Given the description of an element on the screen output the (x, y) to click on. 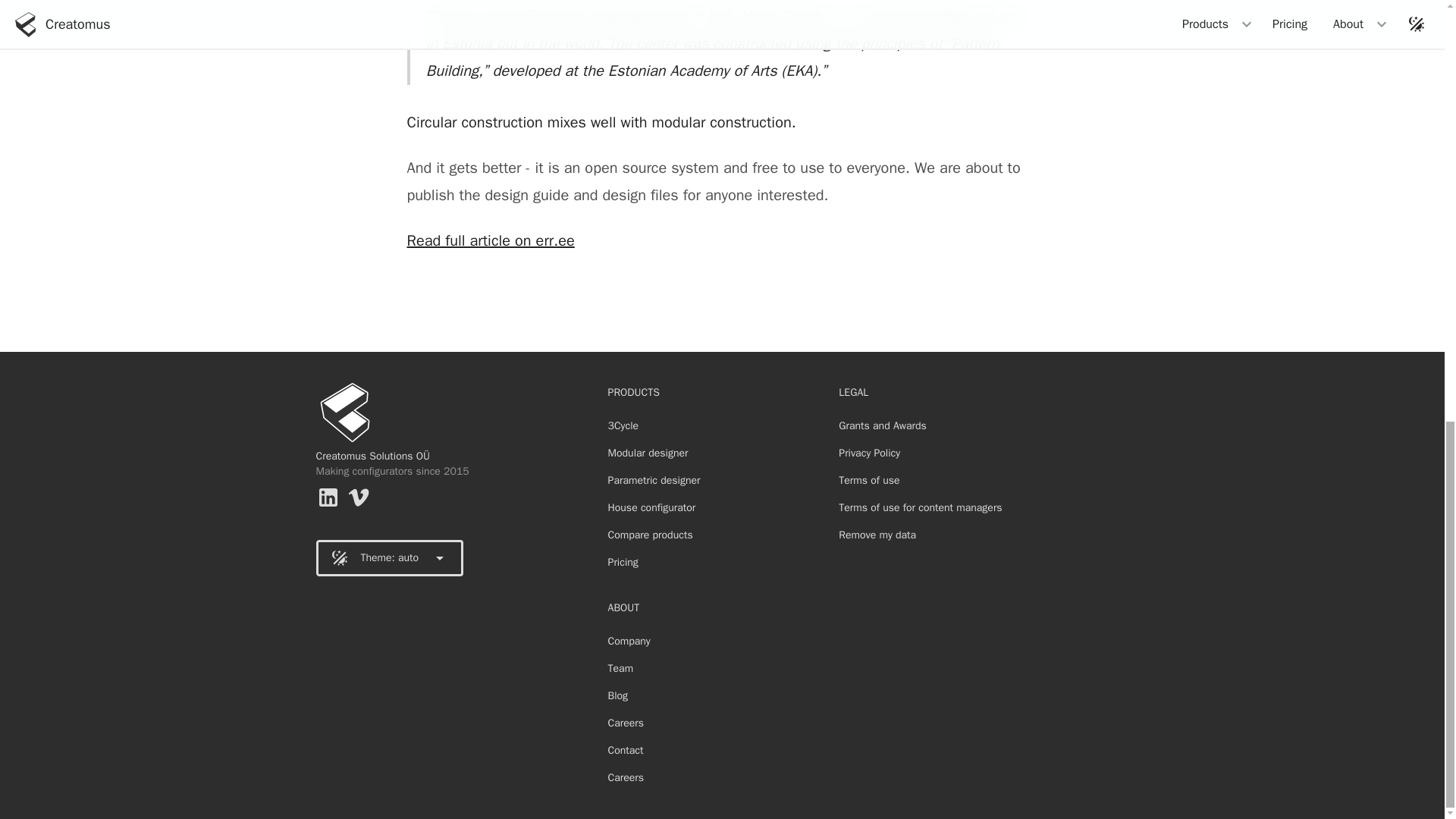
Modular designer (648, 453)
House configurator (651, 507)
Read full article on err.ee (489, 240)
Compare products (650, 535)
Creatomus Linkedin (327, 497)
Parametric designer (654, 480)
Pricing (623, 562)
3Cycle (623, 425)
Creatomus Vimeo (357, 497)
